Given the description of an element on the screen output the (x, y) to click on. 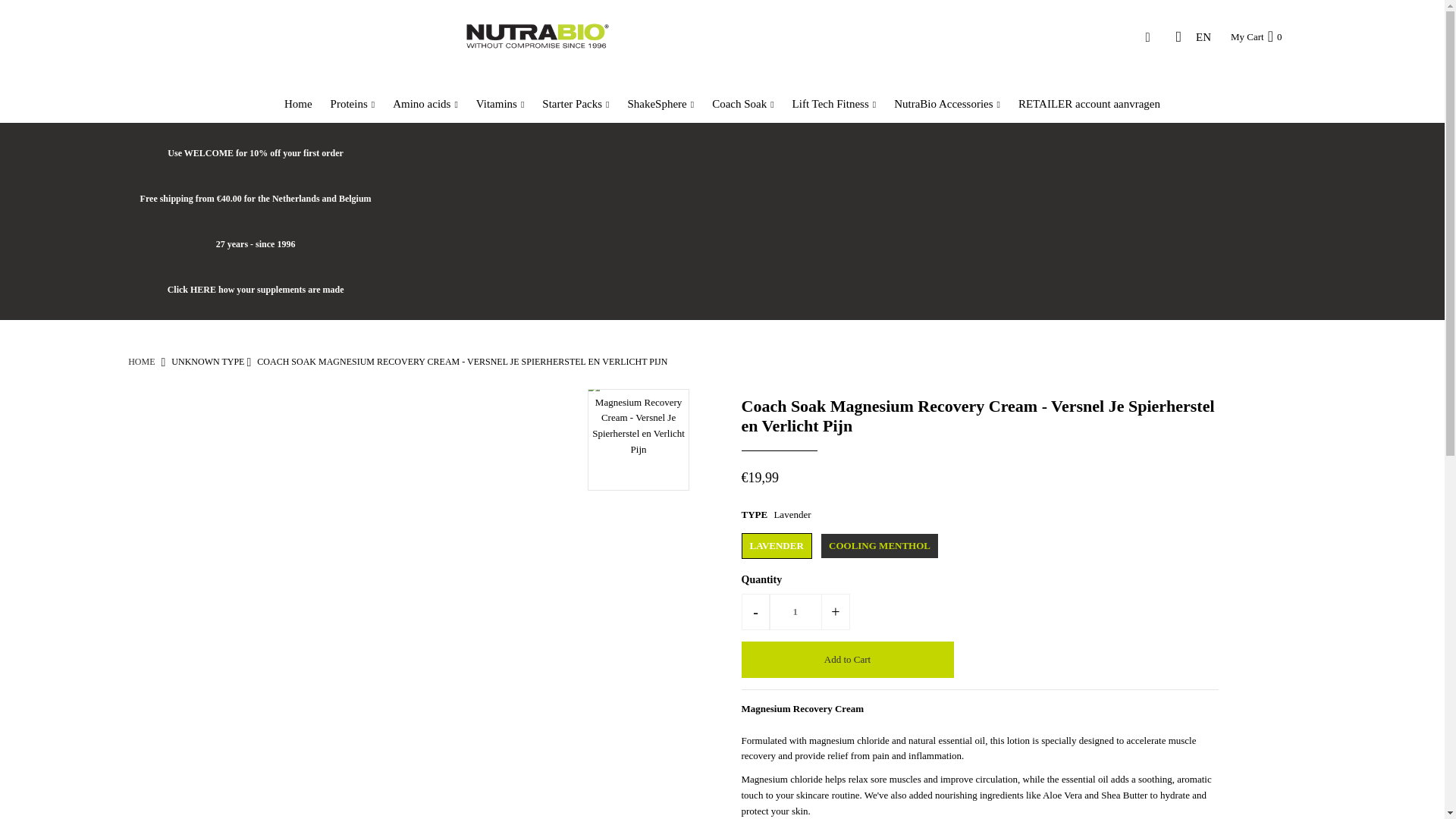
Add to Cart (847, 659)
27 years - since 1996 (254, 243)
Click HERE how your supplements are made (254, 289)
1 (795, 611)
Home (141, 361)
